Given the description of an element on the screen output the (x, y) to click on. 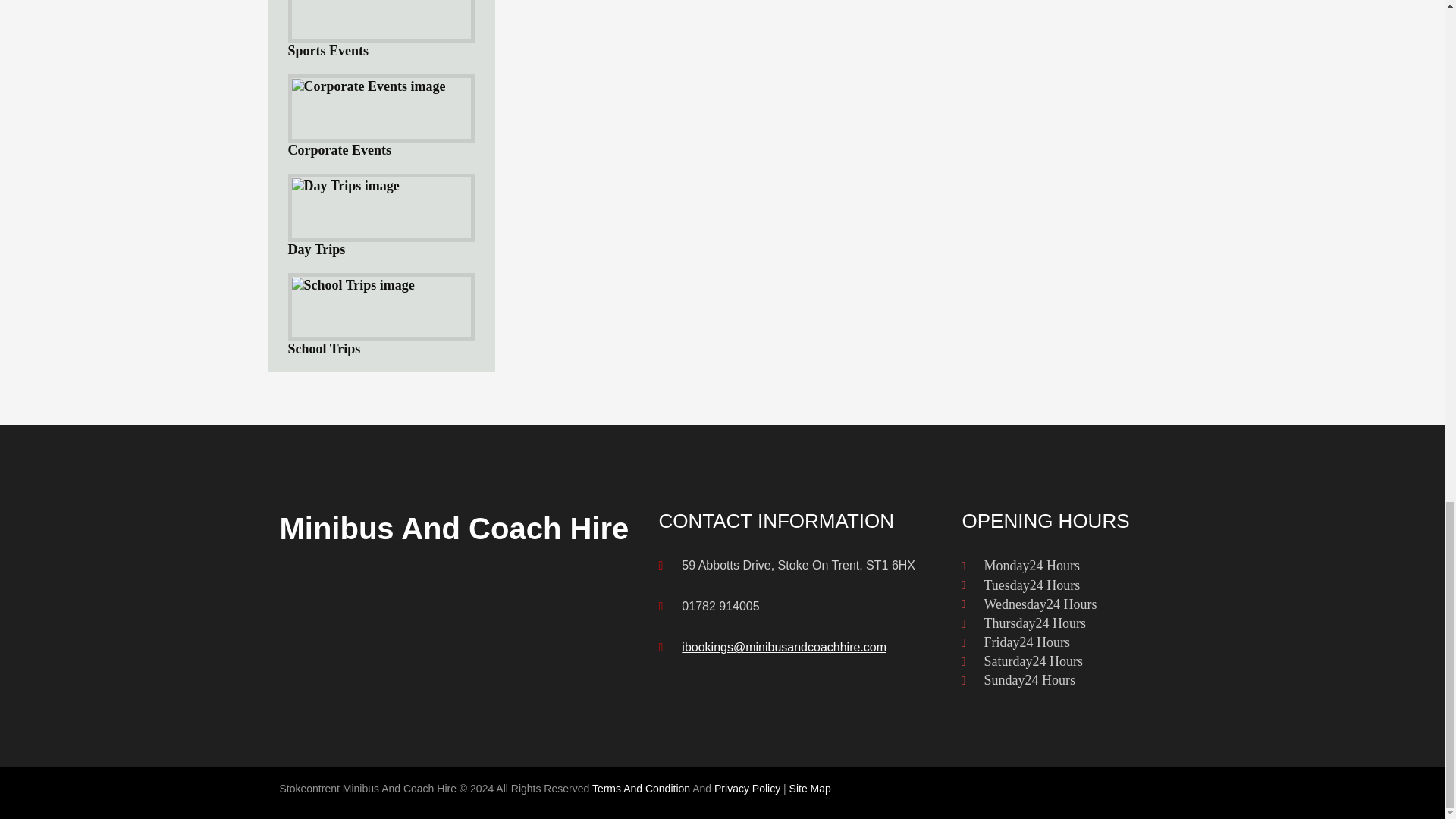
Corporate Events (381, 116)
Corporate Events image (368, 86)
Site Map (810, 788)
School Trips image (352, 285)
01782 914005 (719, 605)
Day Trips image (344, 186)
Minibus And Coach Hire (453, 528)
Privacy Policy (747, 788)
Day Trips (381, 215)
Sports Events (381, 29)
